Given the description of an element on the screen output the (x, y) to click on. 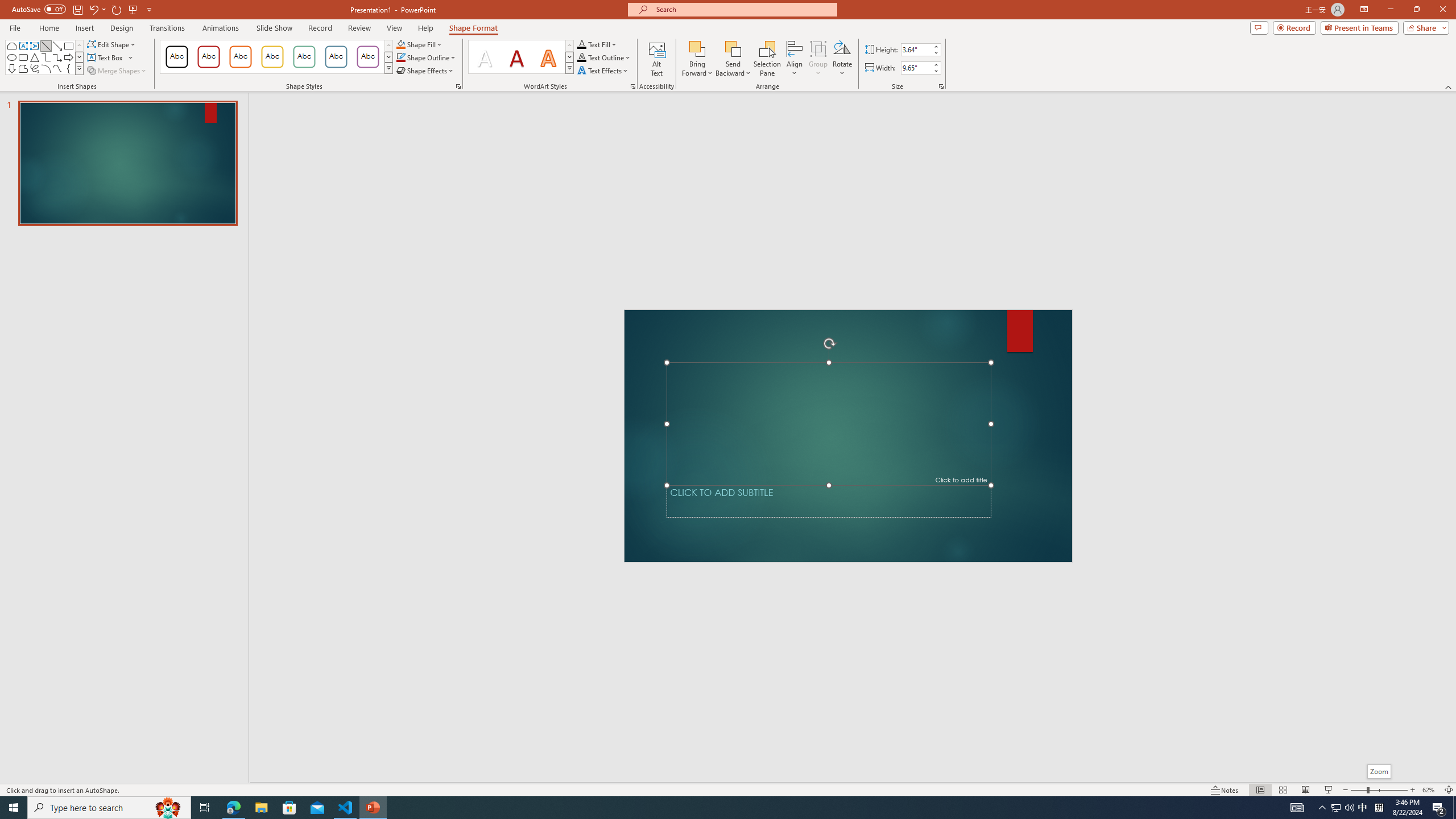
Text Box (110, 56)
Draw Horizontal Text Box (105, 56)
Edit Shape (112, 44)
Fill: White, Text color 1; Shadow (484, 56)
AutomationID: TextStylesGallery (521, 56)
Colored Outline - Black, Dark 1 (176, 56)
Colored Outline - Green, Accent 4 (304, 56)
Quick Styles (568, 67)
Shape Fill (419, 44)
Shape Height (915, 49)
